Given the description of an element on the screen output the (x, y) to click on. 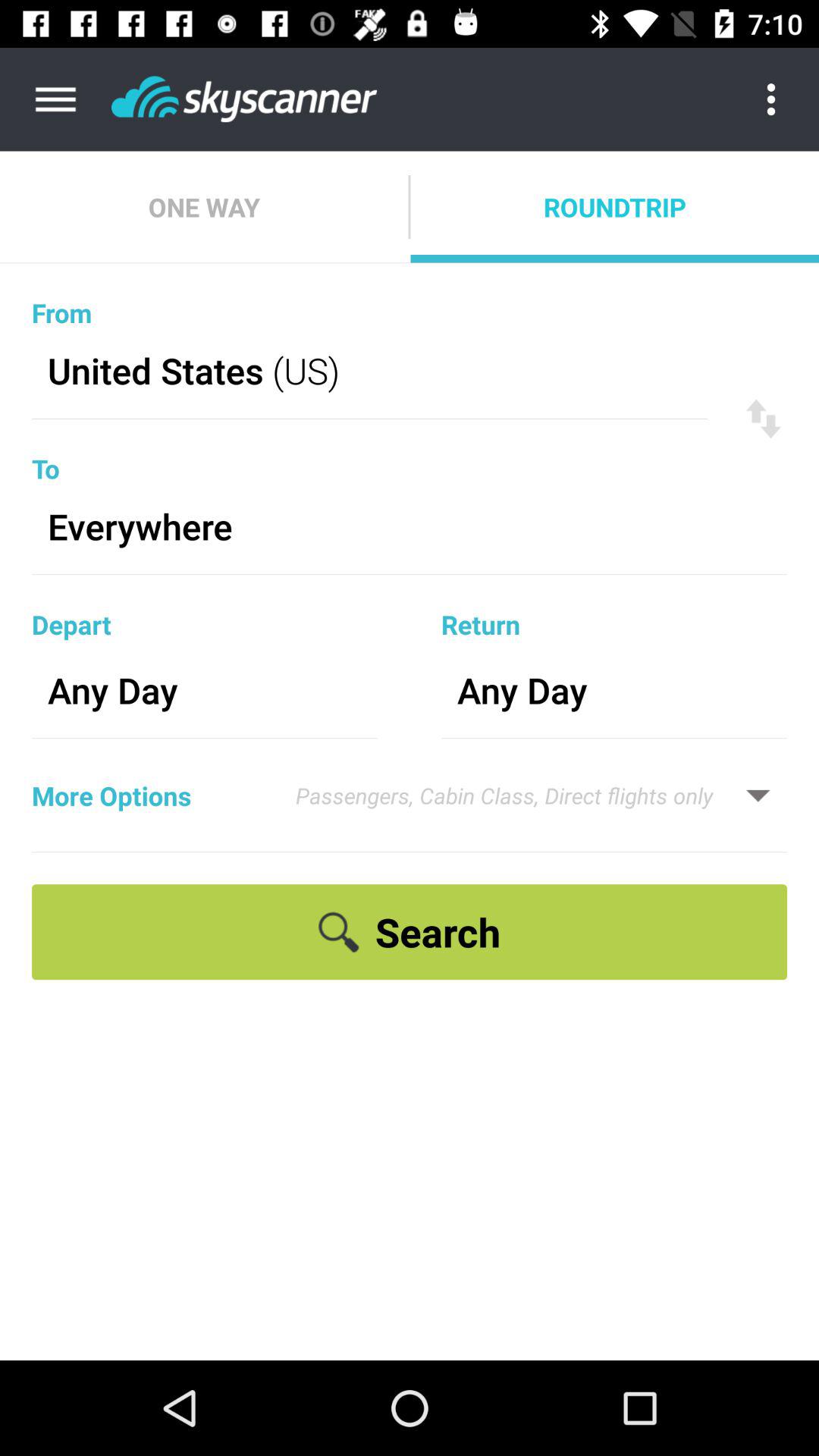
click on the 3 vertical dots icon (783, 98)
select a text field with text return any day (614, 656)
click on the symbol which is right hand side of the text united statesus (763, 418)
